Given the description of an element on the screen output the (x, y) to click on. 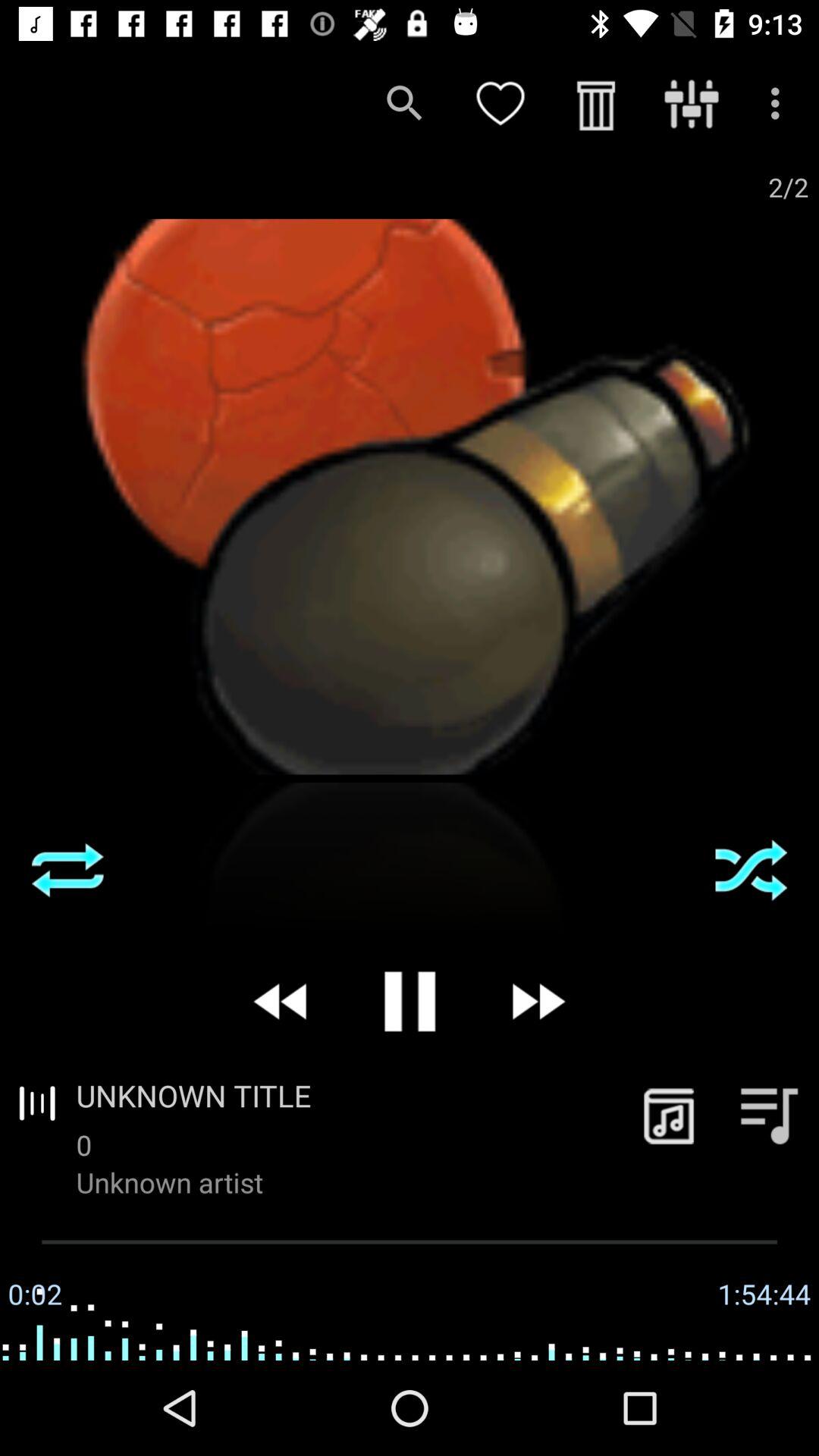
playlists page (768, 1115)
